Given the description of an element on the screen output the (x, y) to click on. 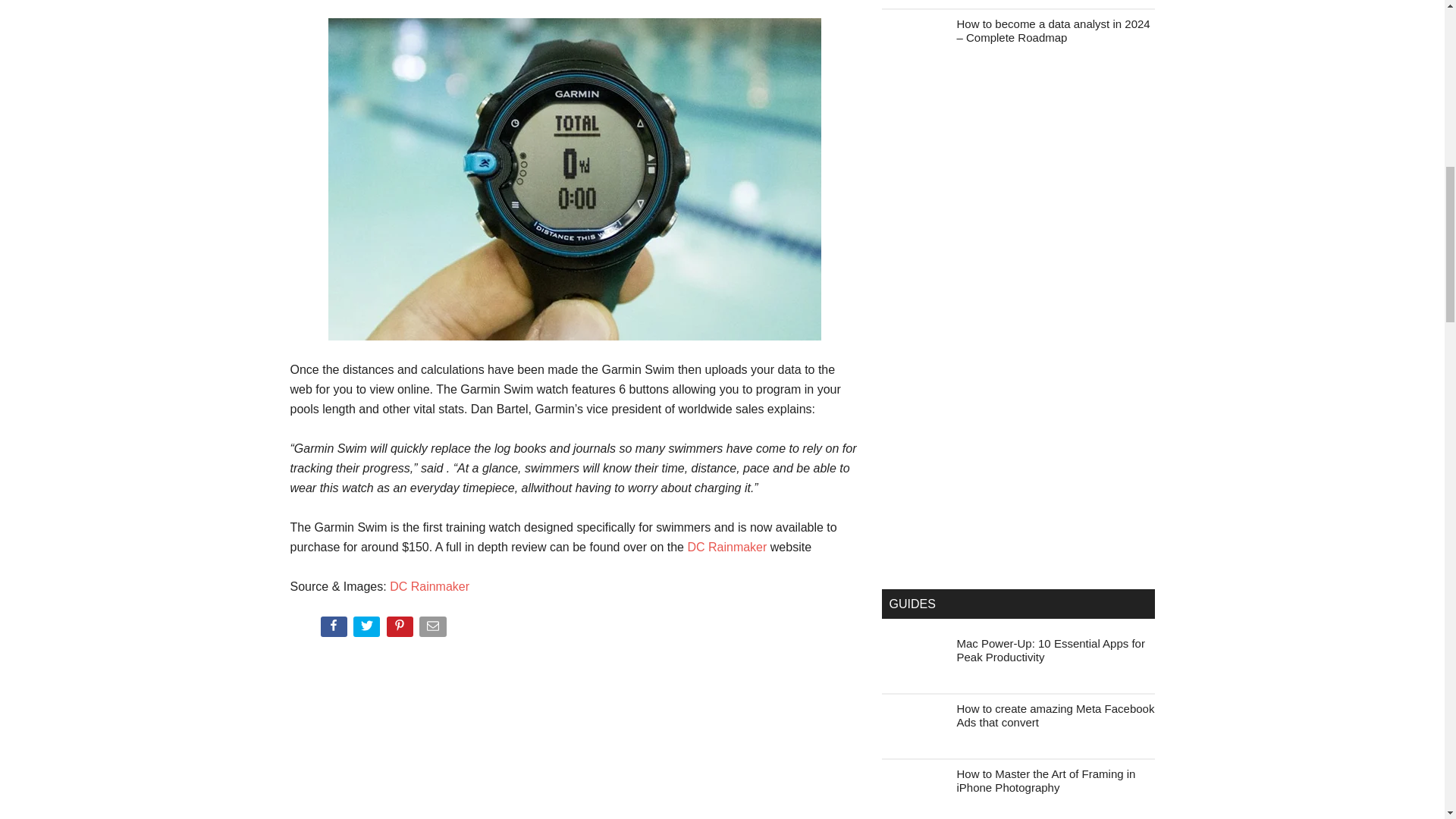
DC Rainmaker (727, 546)
Pin (401, 629)
Email (433, 629)
Tweet (367, 629)
Share on Facebook (334, 629)
DC Rainmaker (429, 585)
